Given the description of an element on the screen output the (x, y) to click on. 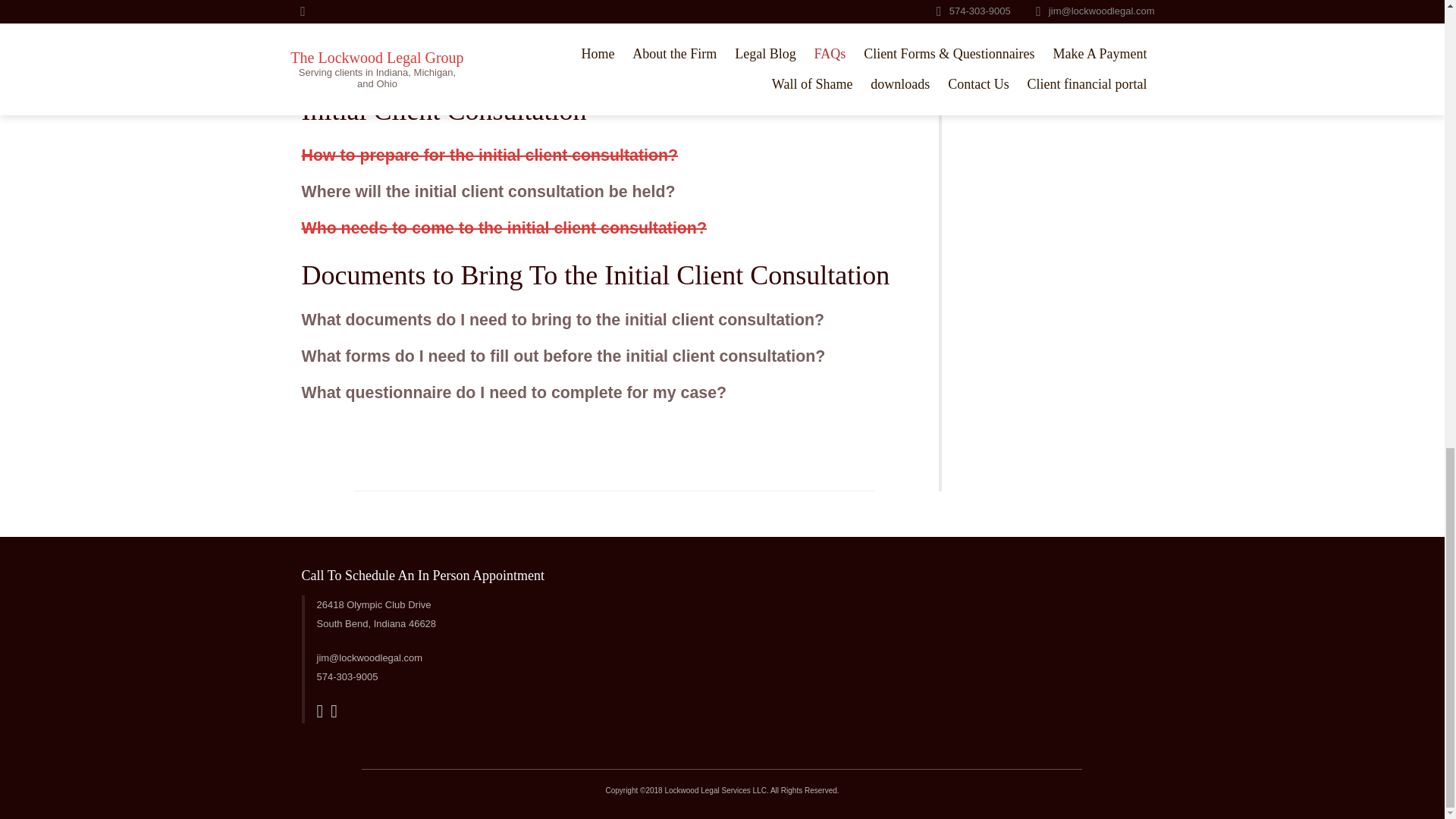
What if you decide not to take my case? (454, 63)
Who needs to come to the initial client consultation? (503, 228)
In what cases is a retainer not required? (456, 27)
How to prepare for the initial client consultation? (489, 155)
